Given the description of an element on the screen output the (x, y) to click on. 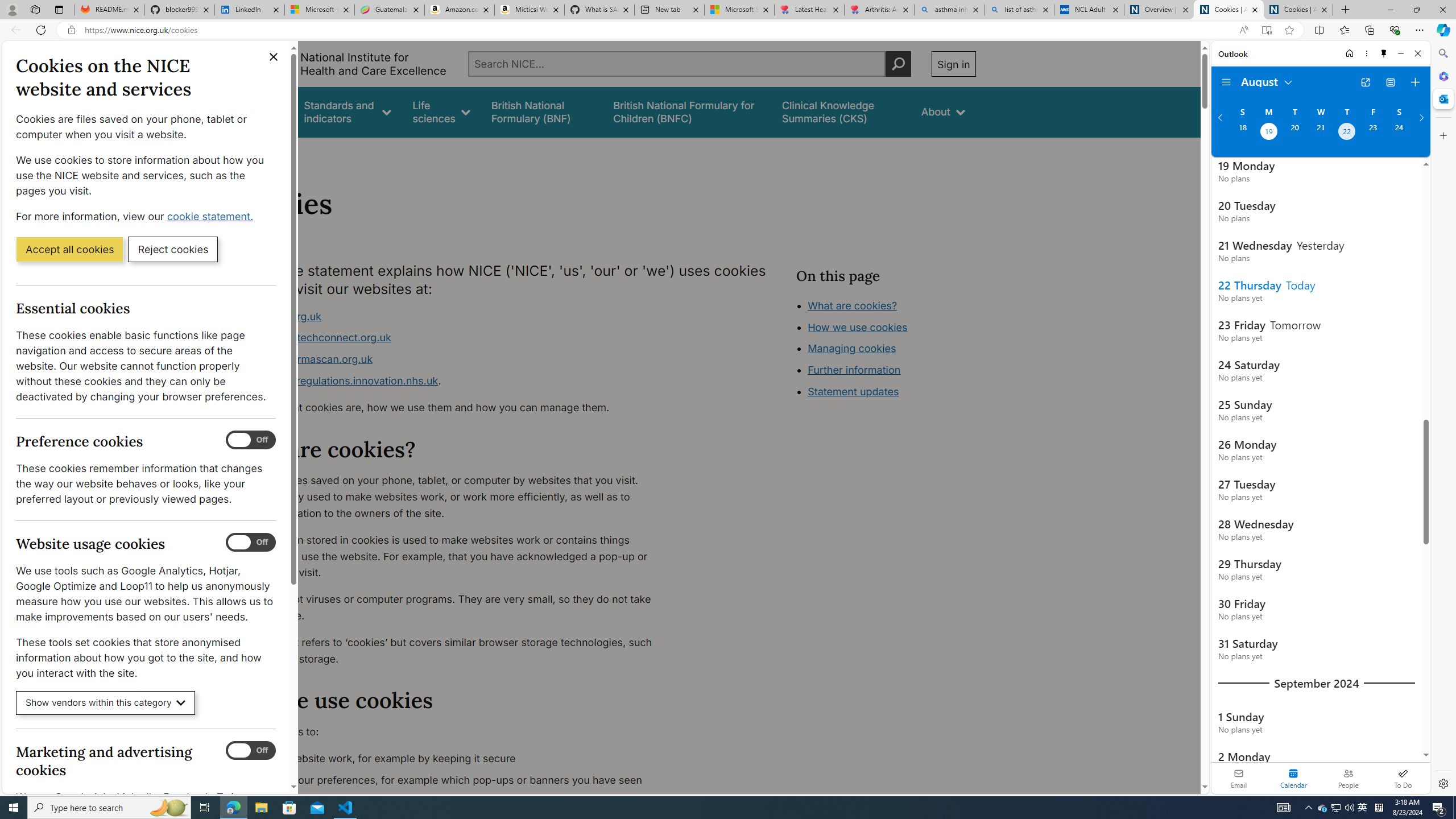
www.digitalregulations.innovation.nhs.uk (338, 380)
Preference cookies (250, 439)
Further information (854, 369)
make our website work, for example by keeping it secure (452, 759)
cookie statement. (Opens in a new window) (211, 215)
www.digitalregulations.innovation.nhs.uk. (452, 380)
British National Formulary for Children (BNFC) (686, 111)
Managing cookies (852, 348)
What are cookies? (852, 305)
